Given the description of an element on the screen output the (x, y) to click on. 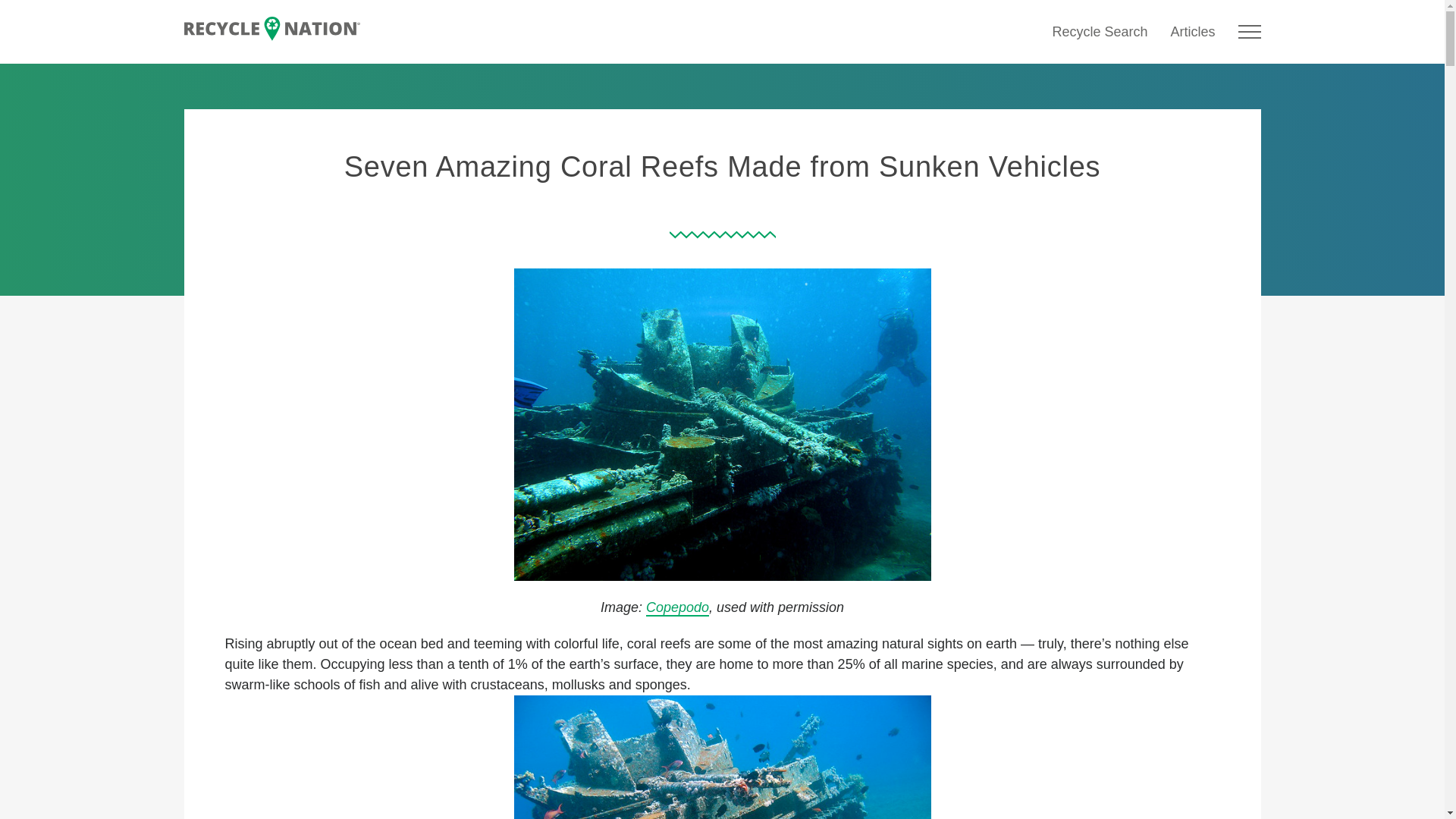
sunken-recycled-vehicle-reef-1 (722, 424)
Copepodo (677, 607)
sunken-recycled-vehicle-reef-2 (722, 757)
Articles (1192, 31)
Recycle Search (1099, 31)
